Given the description of an element on the screen output the (x, y) to click on. 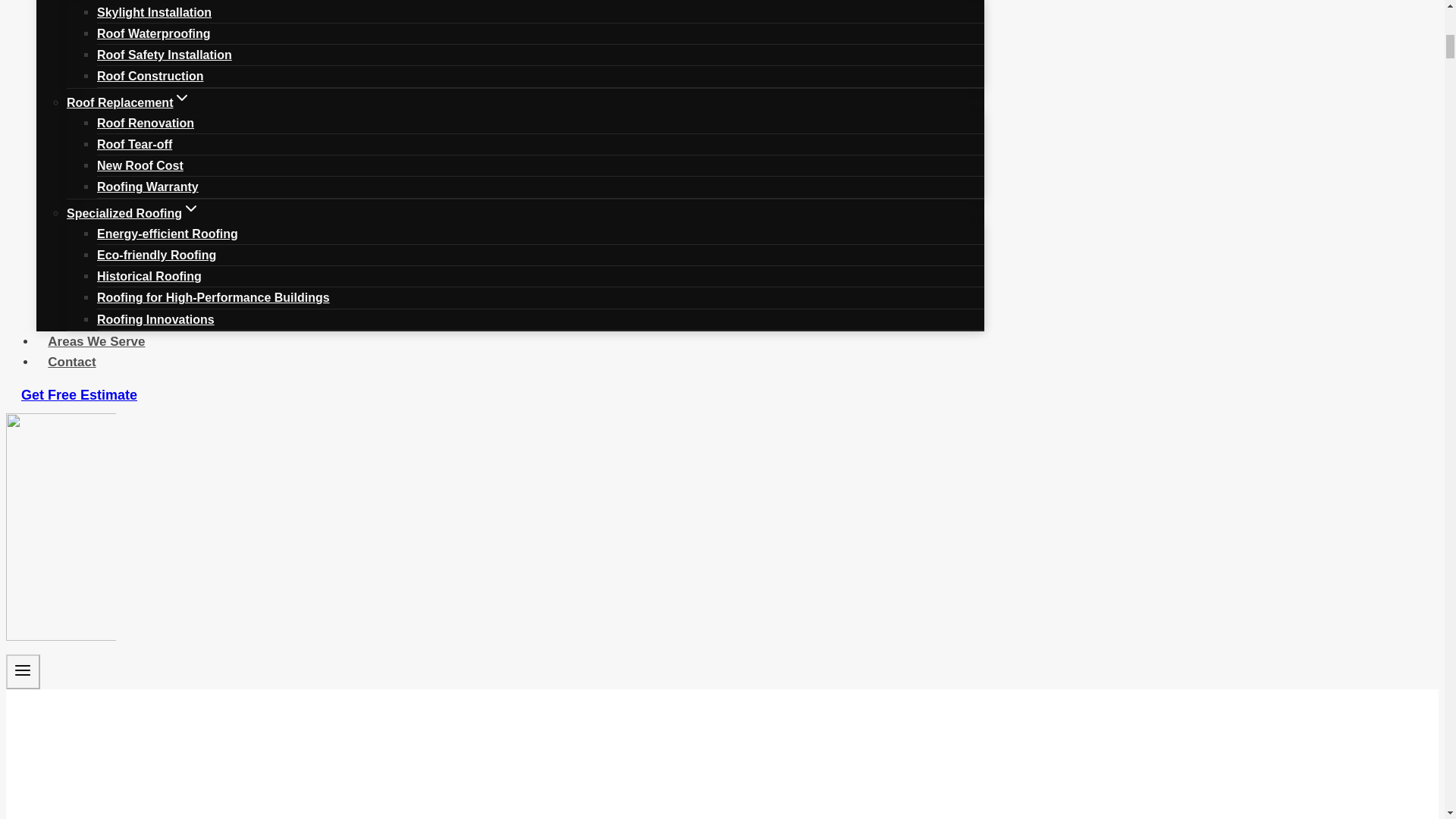
Roof ReplacementExpand (128, 102)
Roof Tear-off (134, 144)
Specialized RoofingExpand (133, 212)
Roof Renovation (145, 122)
Roof InstallationExpand (122, 5)
Roofing Warranty (147, 186)
Roof Waterproofing (154, 33)
Toggle Menu (22, 669)
Historical Roofing (149, 275)
Expand (191, 208)
Energy-efficient Roofing (167, 233)
Roofing for High-Performance Buildings (213, 297)
New Roof Cost (140, 165)
Roof Construction (150, 76)
Expand (181, 97)
